Given the description of an element on the screen output the (x, y) to click on. 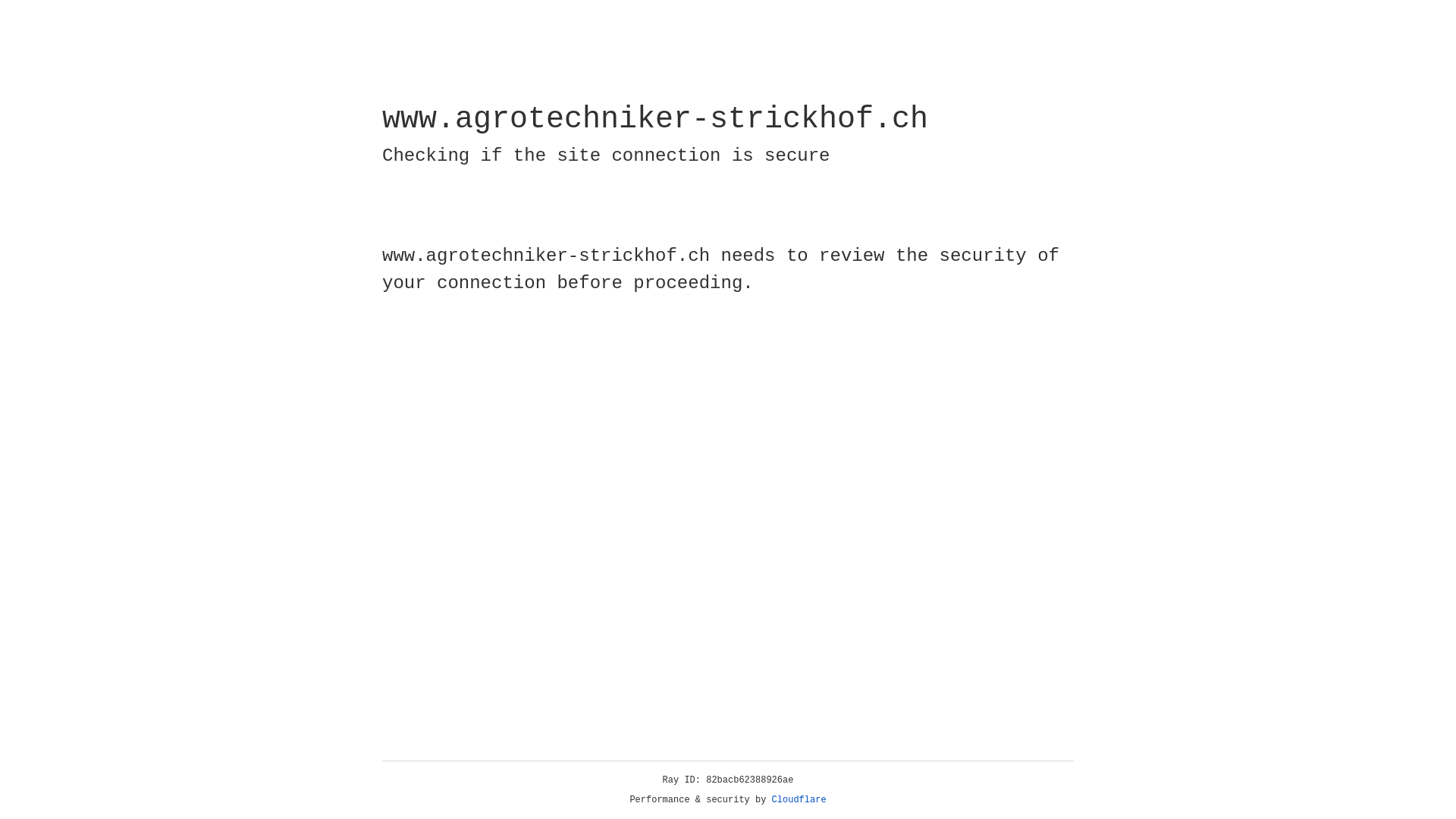
Cloudflare Element type: text (798, 799)
